Given the description of an element on the screen output the (x, y) to click on. 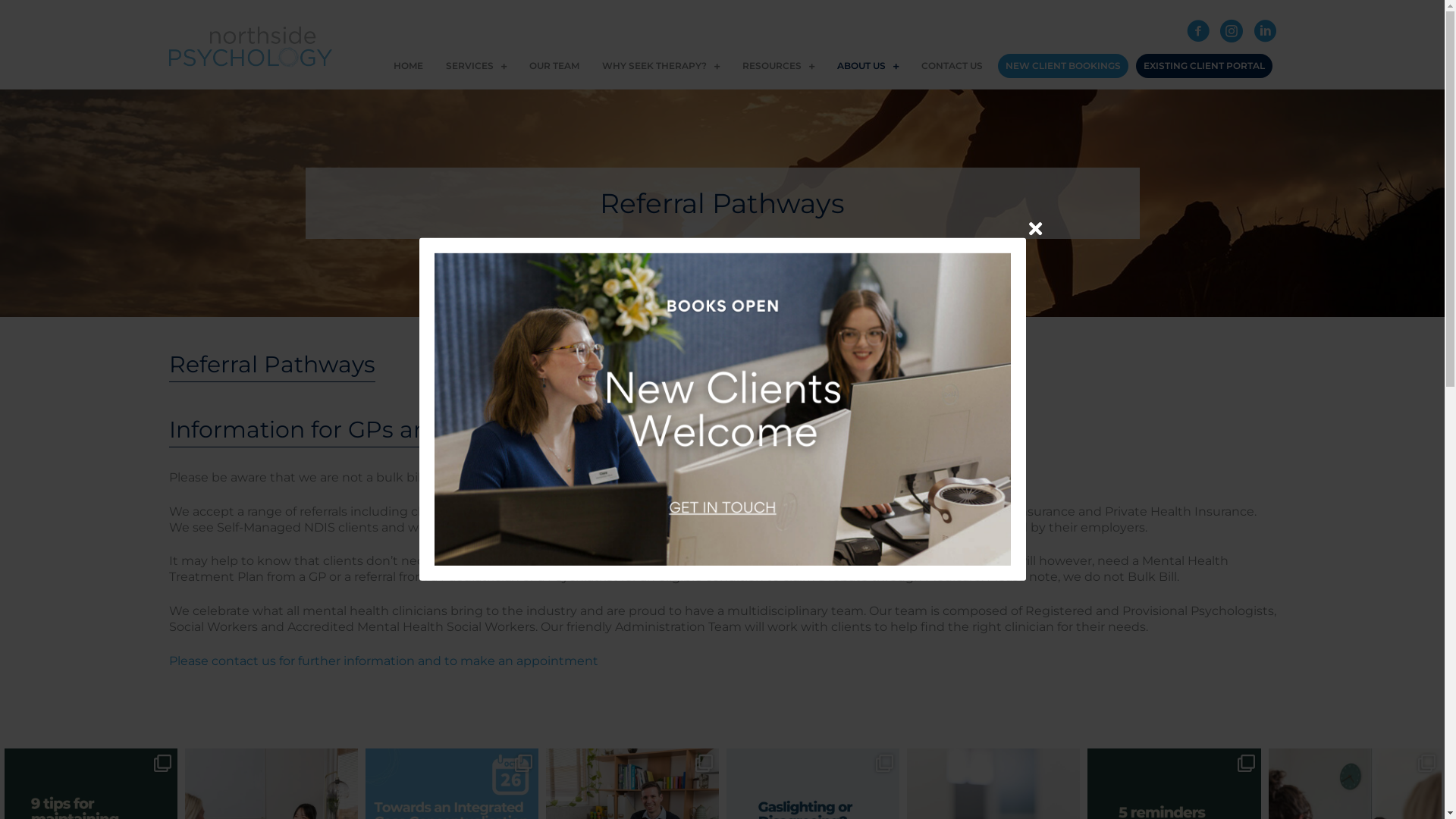
ABOUT US Element type: text (867, 65)
CONTACT US Element type: text (951, 65)
OUR TEAM Element type: text (553, 65)
Northside logos COL Element type: hover (249, 46)
Books Open New Clients Element type: hover (722, 409)
EXISTING CLIENT PORTAL Element type: text (1203, 65)
SERVICES Element type: text (476, 65)
HOME Element type: text (407, 65)
RESOURCES Element type: text (777, 65)
WHY SEEK THERAPY? Element type: text (660, 65)
NEW CLIENT BOOKINGS Element type: text (1062, 65)
